Given the description of an element on the screen output the (x, y) to click on. 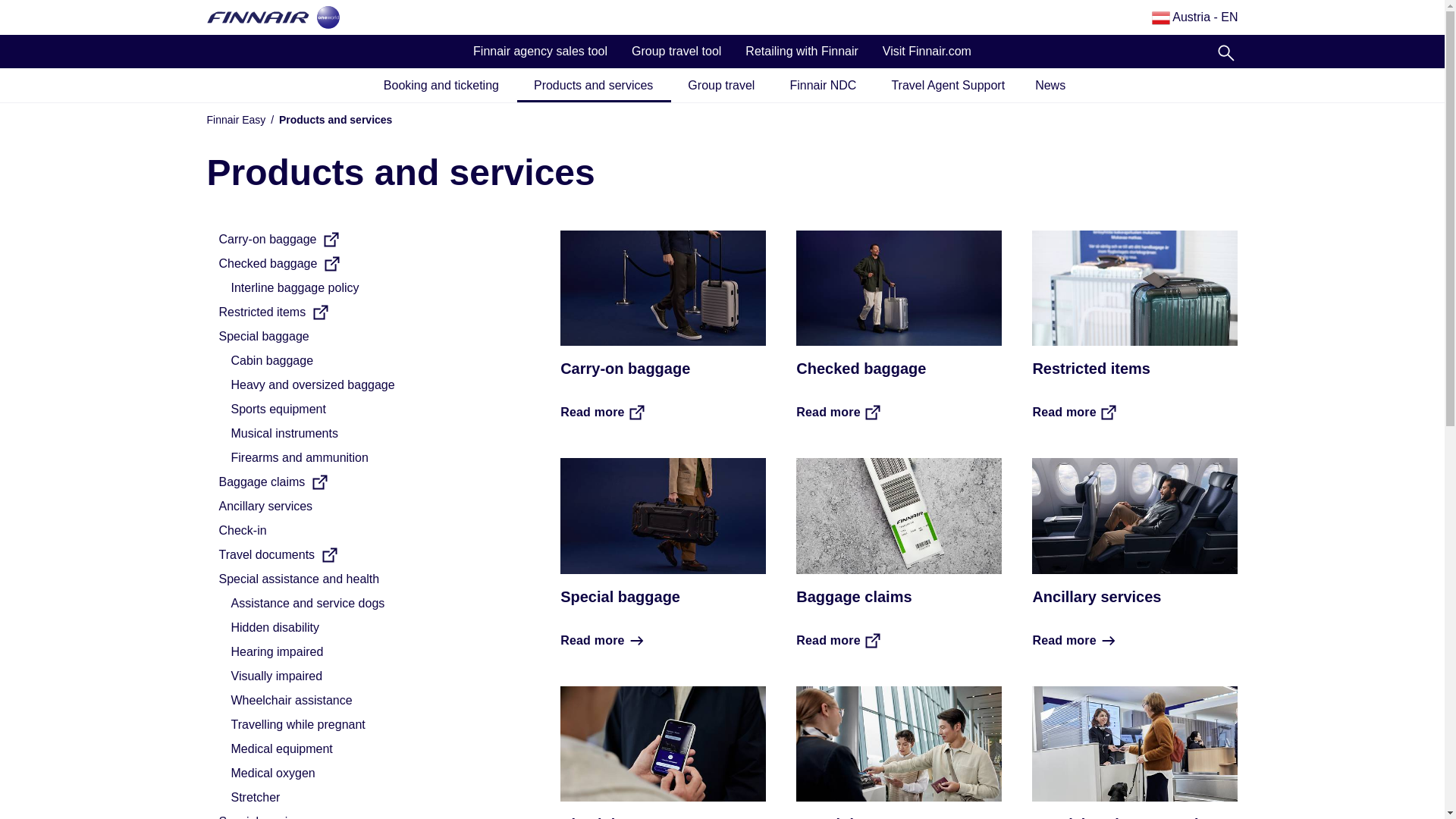
Austria - EN (1195, 17)
Products and services (594, 85)
Visit Finnair.com (926, 51)
Retailing with Finnair (802, 51)
Finnair Easy for travel agents (257, 17)
Booking and ticketing (441, 85)
Group travel tool (675, 51)
Finnair agency sales tool (540, 51)
